Given the description of an element on the screen output the (x, y) to click on. 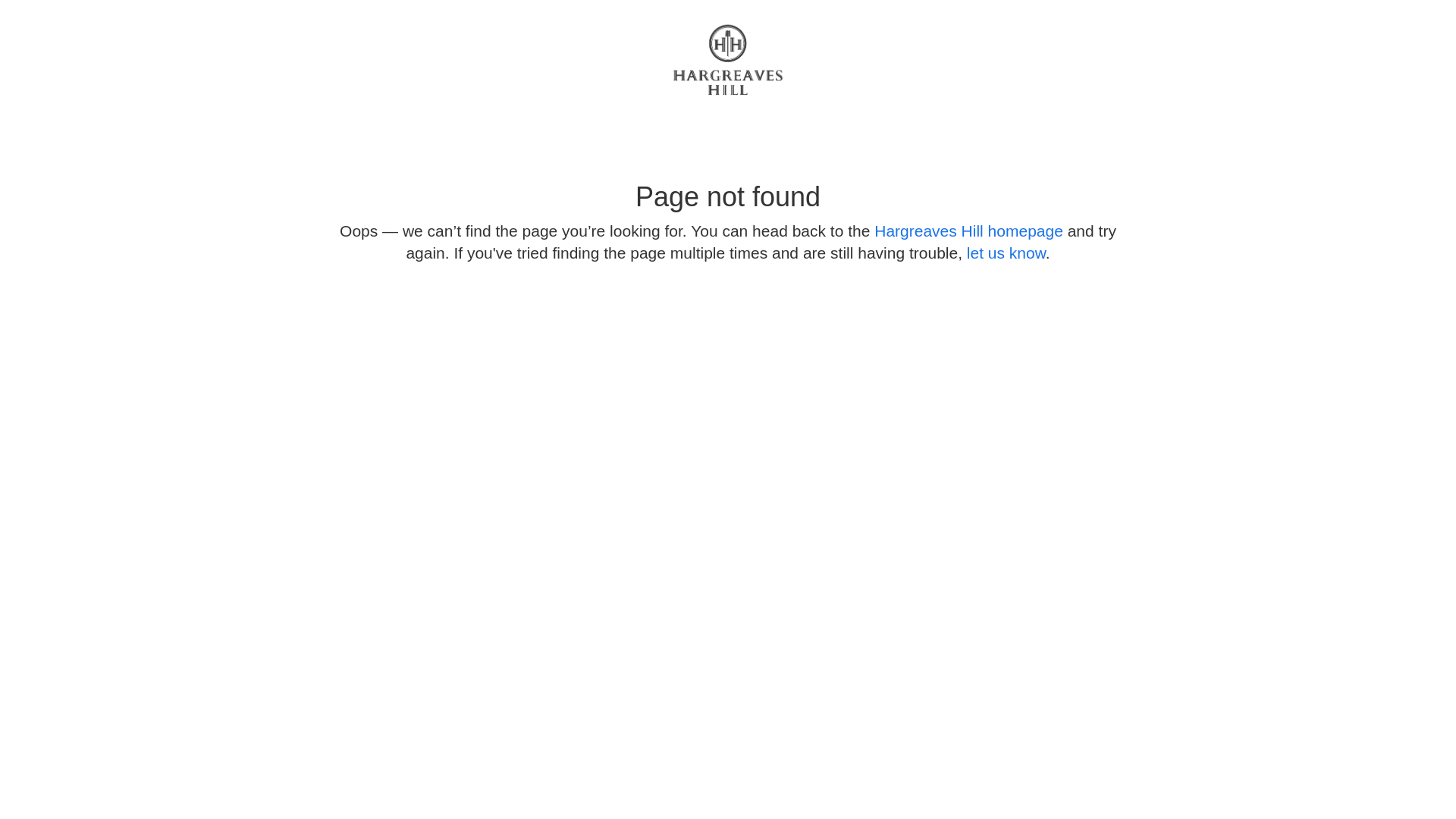
let us know Element type: text (1005, 252)
Hargreaves Hill homepage Element type: text (968, 230)
